Given the description of an element on the screen output the (x, y) to click on. 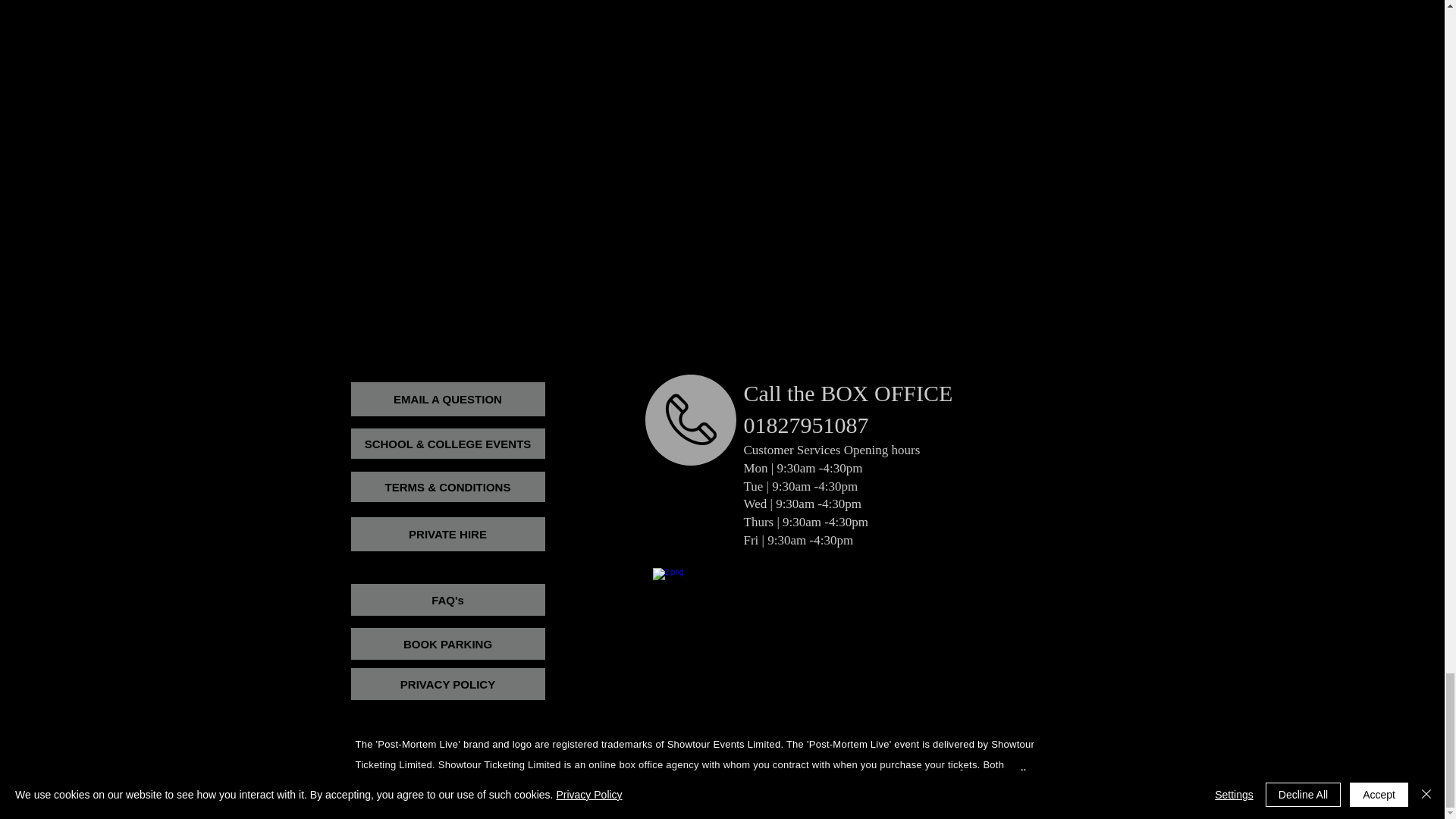
EMAIL A QUESTION (447, 399)
FAQ's (447, 599)
PRIVACY POLICY (447, 684)
PRIVATE HIRE (447, 533)
BOOK PARKING (447, 644)
